Given the description of an element on the screen output the (x, y) to click on. 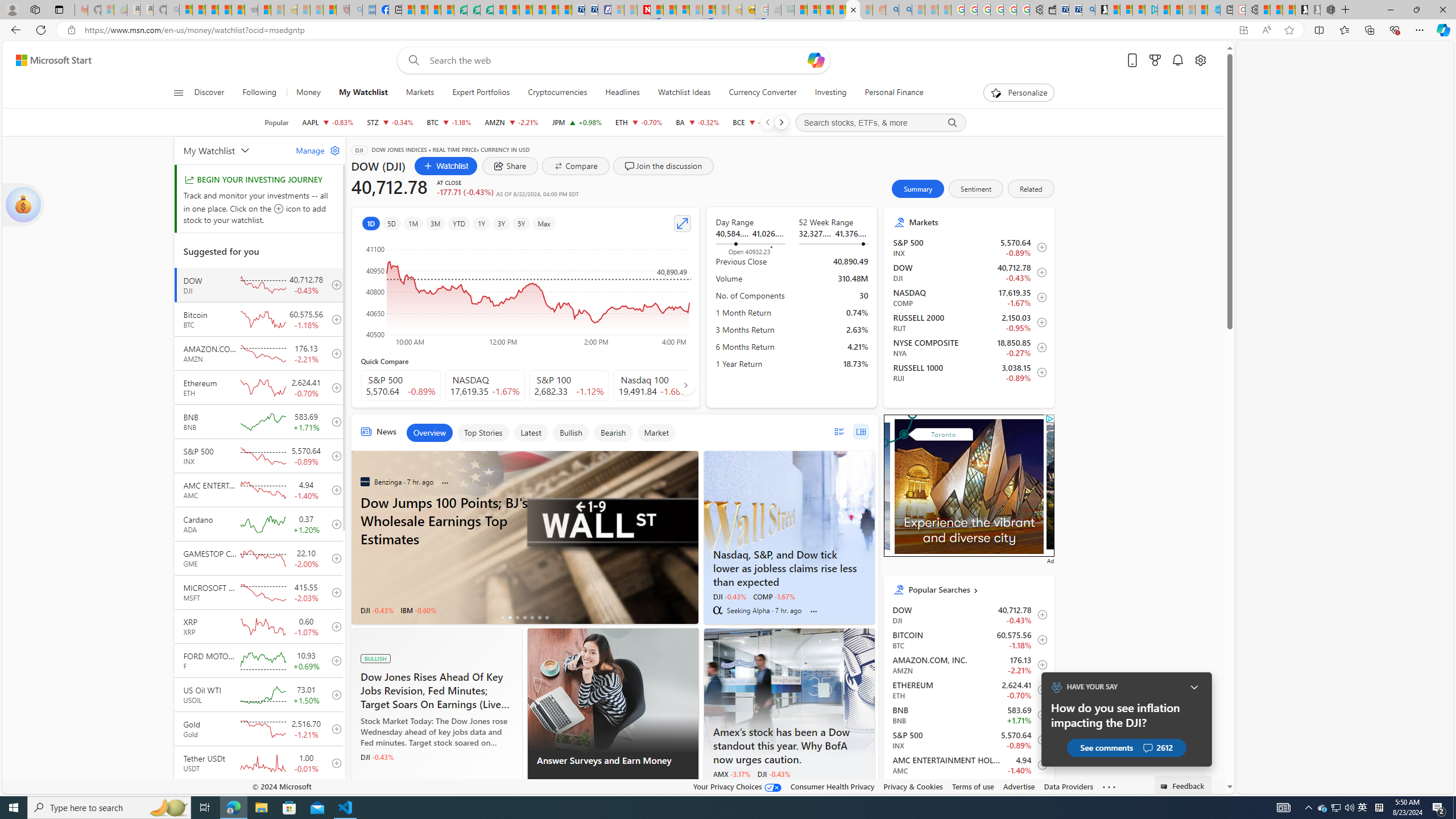
Related (1030, 188)
Market (656, 432)
AutomationID: bg2 (968, 483)
My Watchlist (232, 150)
App available. Install Start Money (1243, 29)
AutomationID: finance_carousel_navi_right (685, 384)
